Given the description of an element on the screen output the (x, y) to click on. 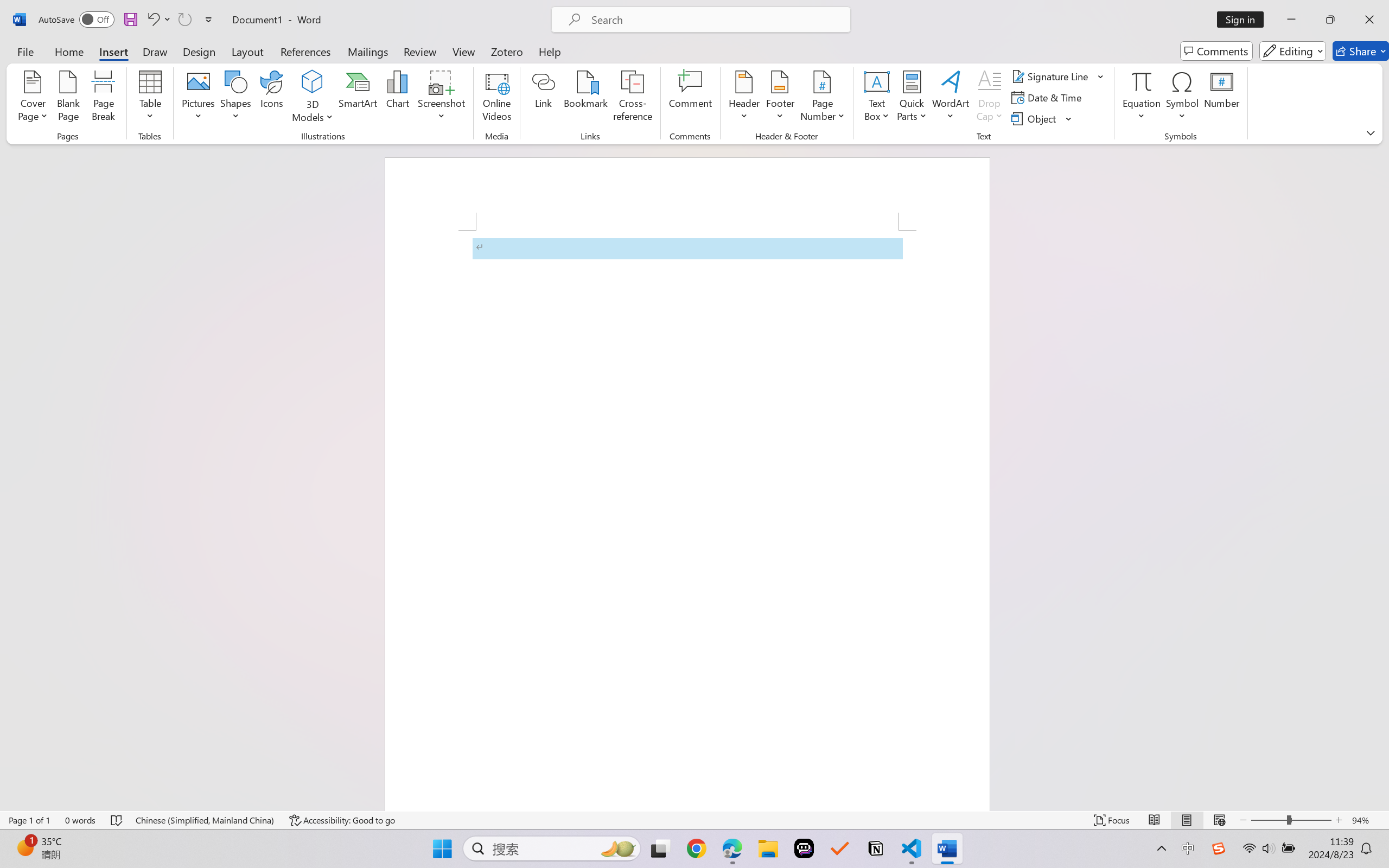
Footer (780, 97)
SmartArt... (358, 97)
3D Models (312, 81)
